Given the description of an element on the screen output the (x, y) to click on. 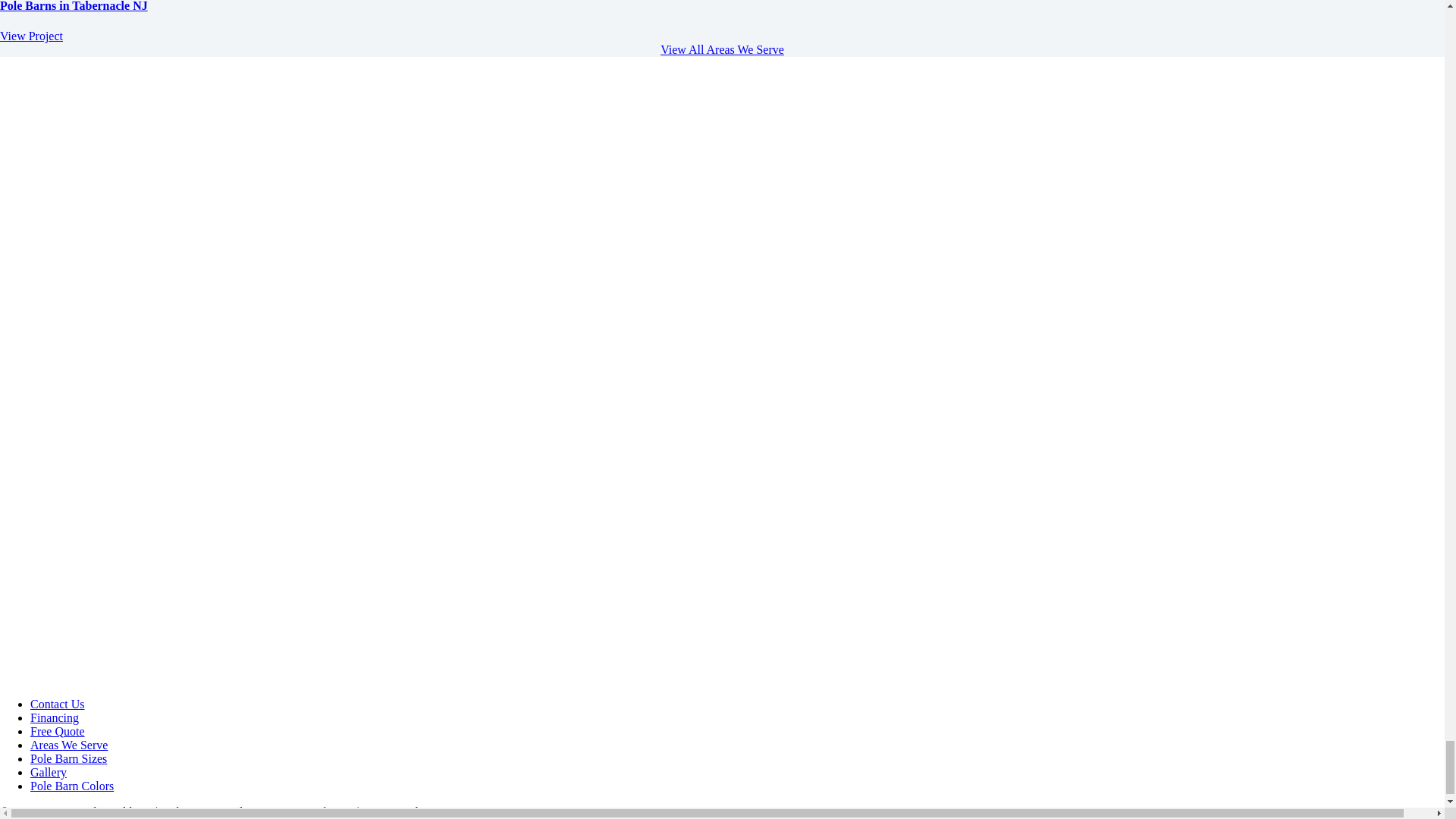
Pole Barns in Tabernacle NJ 10 (321, 72)
